Given the description of an element on the screen output the (x, y) to click on. 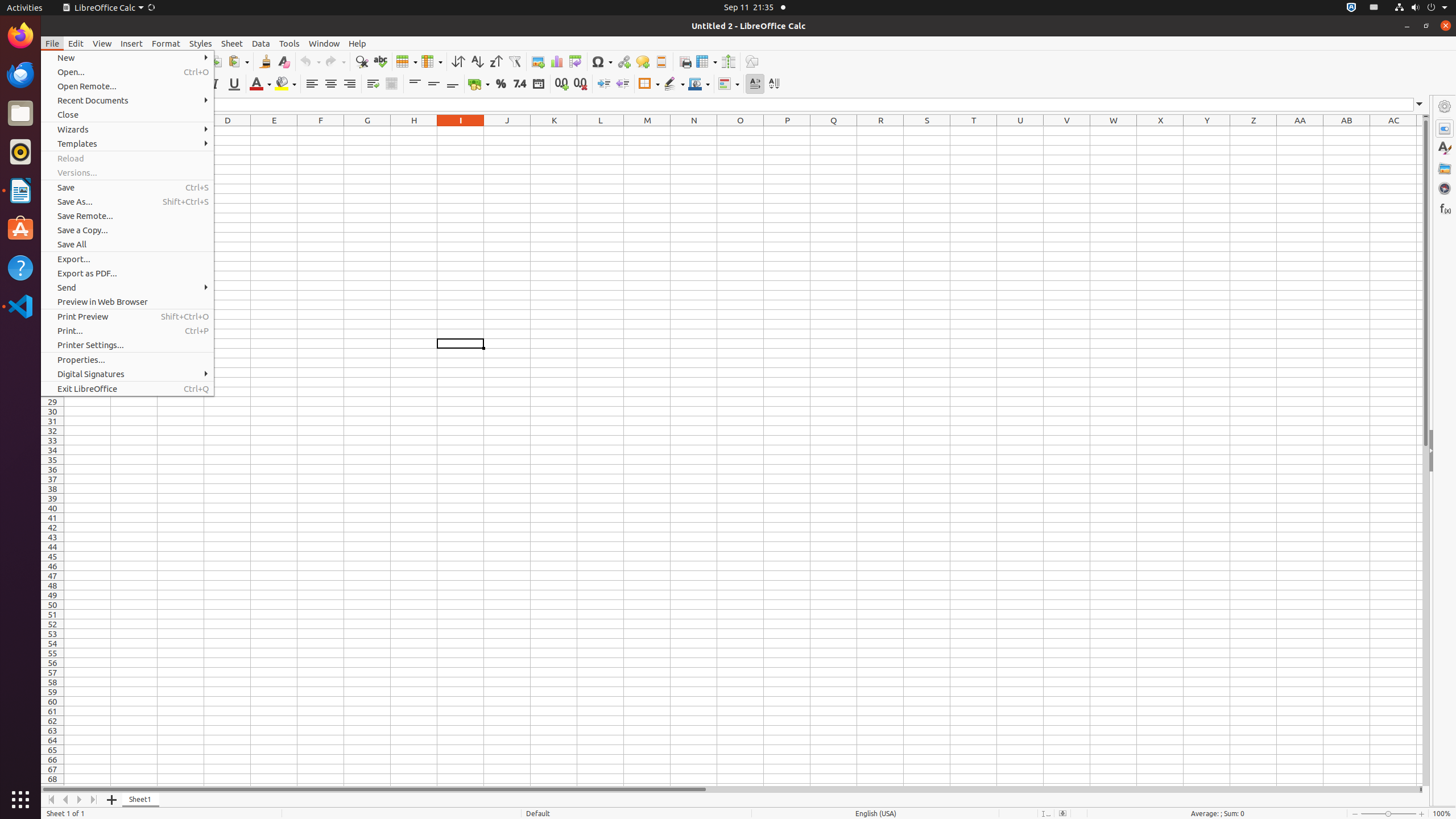
Wrap Text Element type: push-button (372, 83)
Paste Element type: push-button (237, 61)
O1 Element type: table-cell (740, 130)
Merge and Center Cells Element type: push-button (391, 83)
Add Decimal Place Element type: push-button (561, 83)
